Given the description of an element on the screen output the (x, y) to click on. 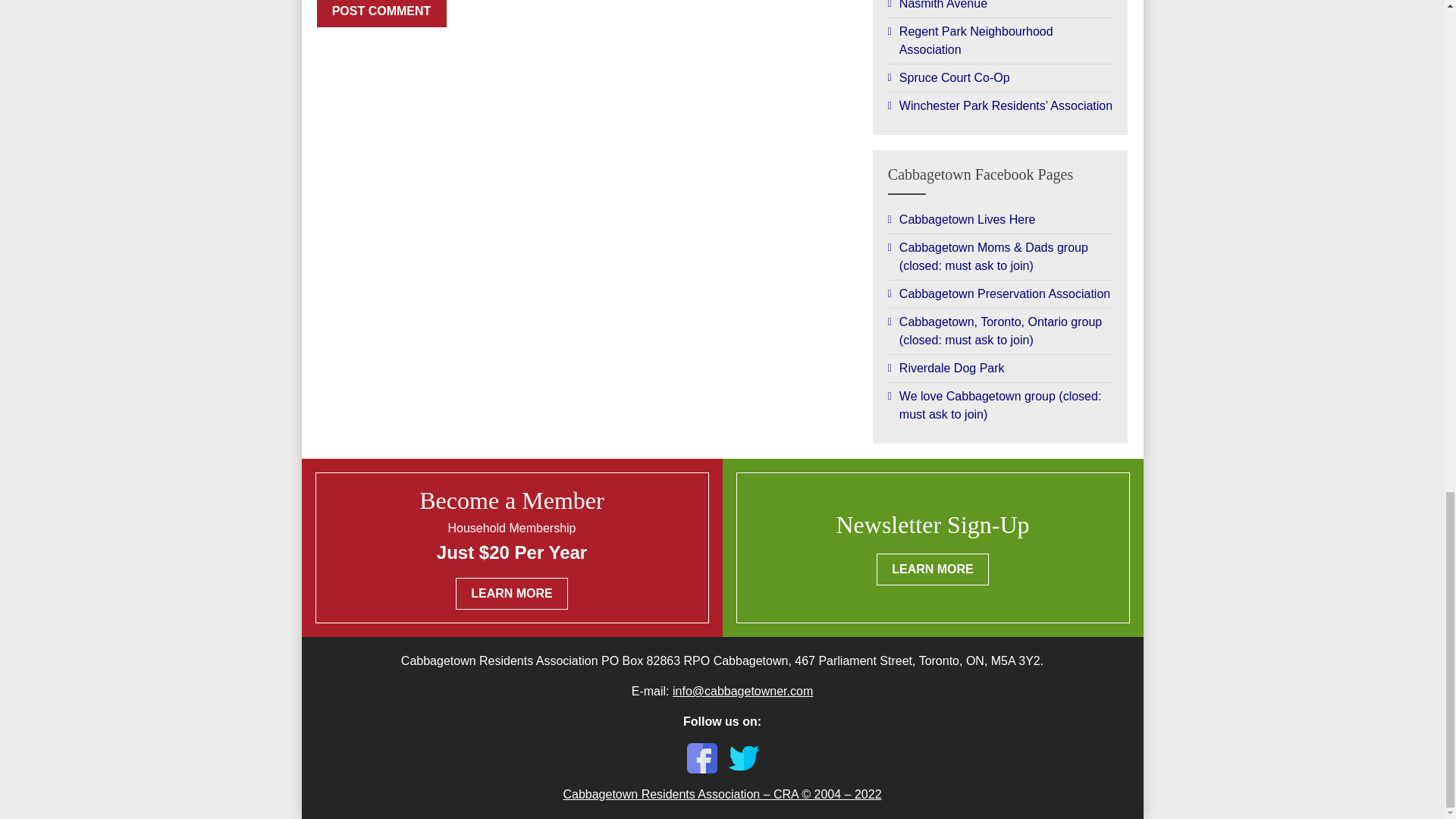
Open group run by real estate agent (1000, 219)
Post Comment (381, 13)
